Given the description of an element on the screen output the (x, y) to click on. 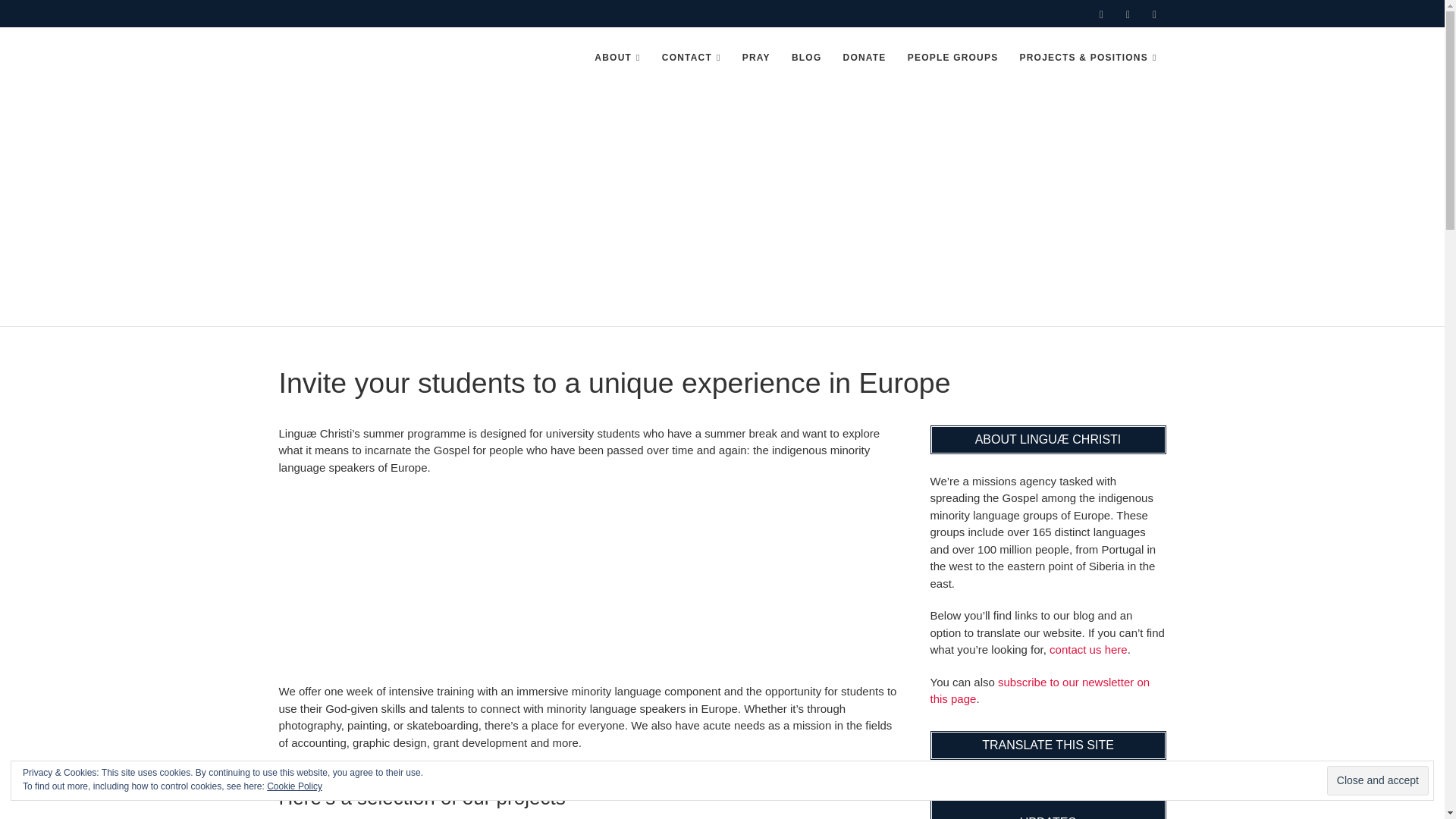
DONATE (864, 58)
CONTACT (691, 58)
ABOUT (617, 58)
Twitter (1101, 15)
contact us here (1087, 649)
PEOPLE GROUPS (952, 58)
Facebook (1127, 15)
subscribe to our newsletter on this page (1040, 690)
Instagram (1154, 15)
Close and accept (1377, 780)
